Given the description of an element on the screen output the (x, y) to click on. 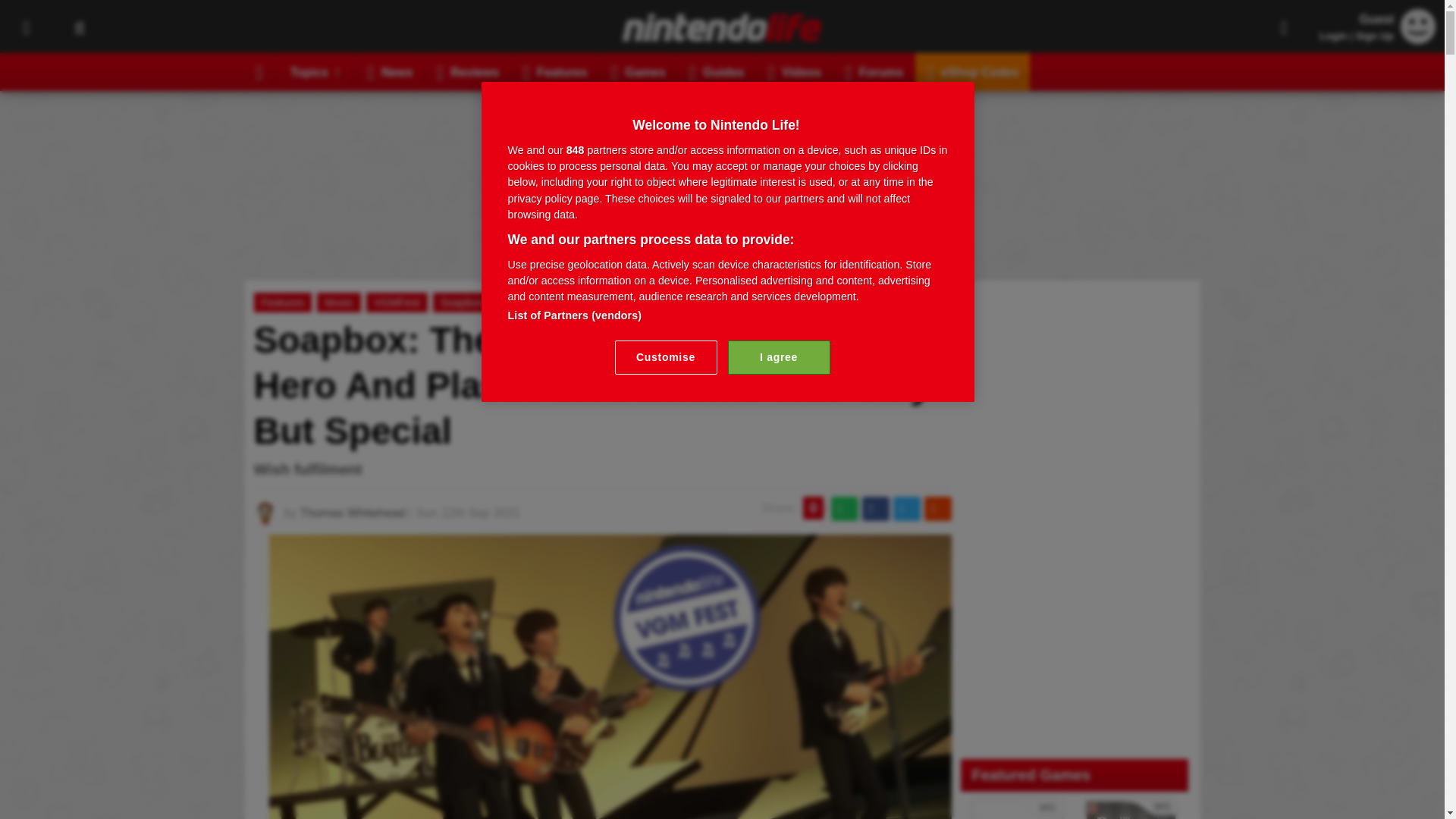
Guest (1417, 39)
Reviews (468, 71)
Music (339, 302)
Videos (793, 71)
eShop Codes (972, 71)
Share this on Facebook (874, 508)
Guest (1417, 26)
Games (638, 71)
Sign Up (1374, 35)
